Given the description of an element on the screen output the (x, y) to click on. 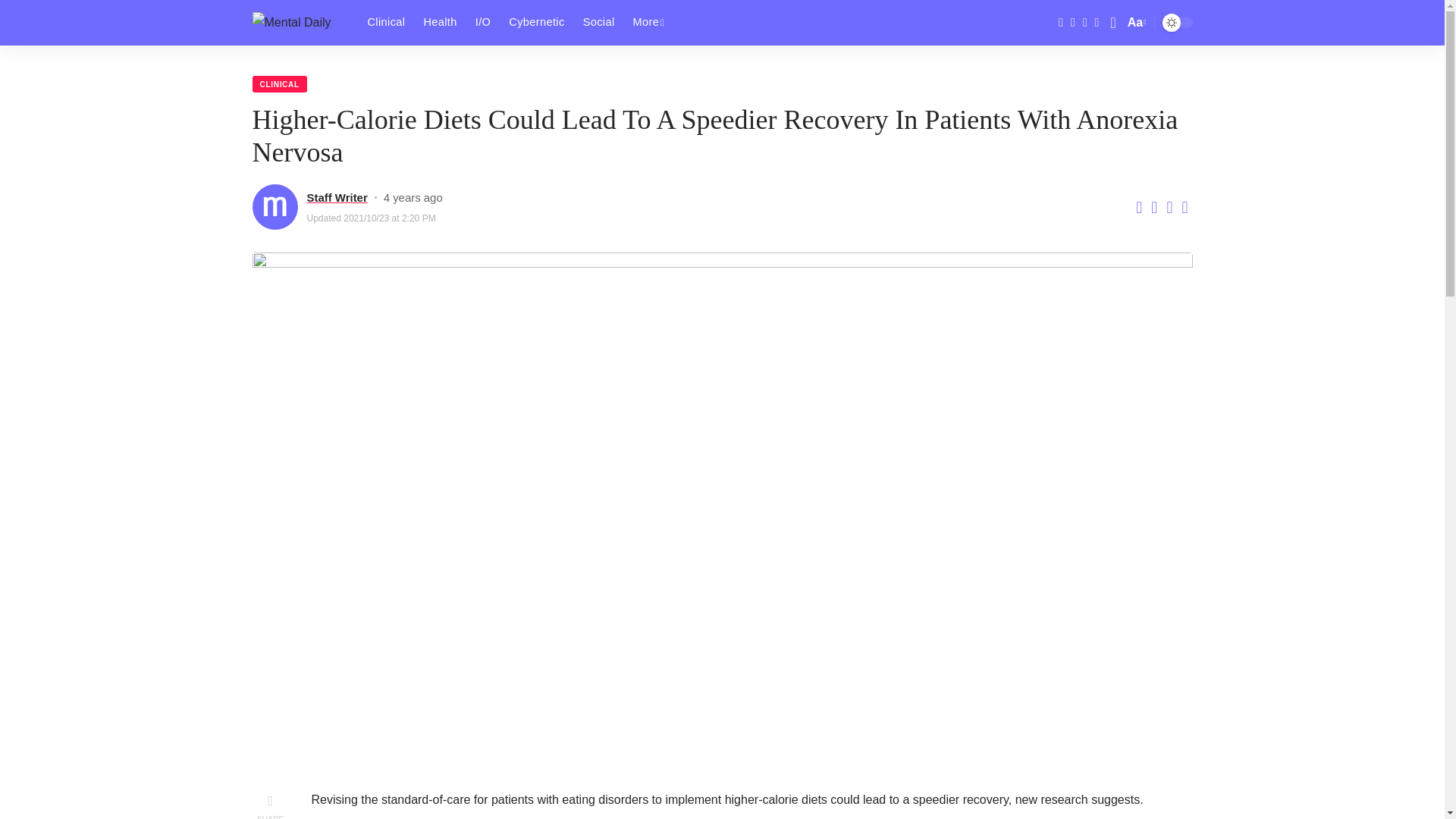
Mental Daily (296, 22)
2020-10-19T23:58:08-04:00 (413, 197)
Social (598, 22)
More (648, 22)
Aa (1135, 22)
Health (439, 22)
Cybernetic (536, 22)
Clinical (385, 22)
